Given the description of an element on the screen output the (x, y) to click on. 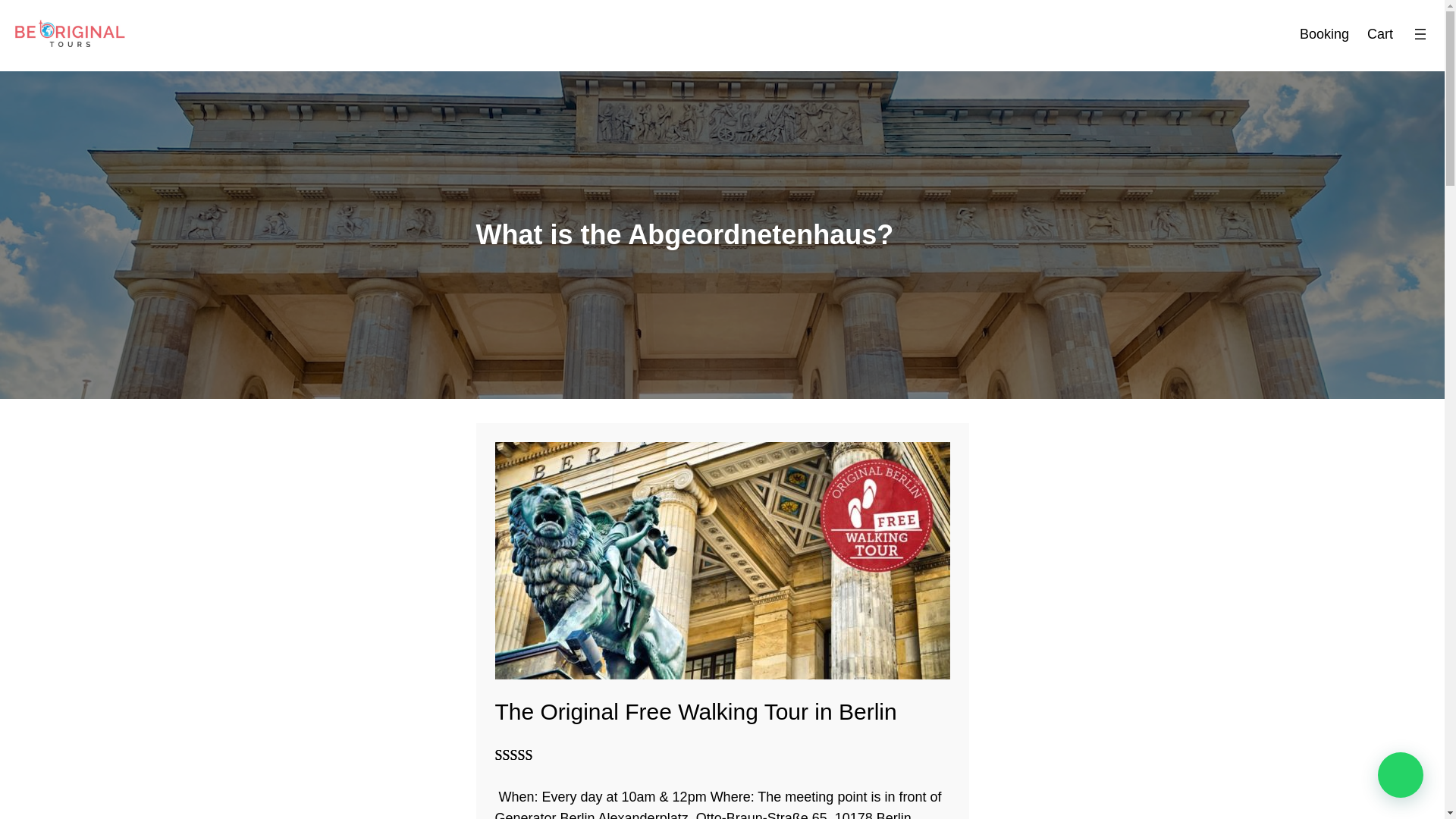
Booking (1324, 33)
Cart (1380, 33)
The Original Free Walking Tour in Berlin (695, 711)
